Given the description of an element on the screen output the (x, y) to click on. 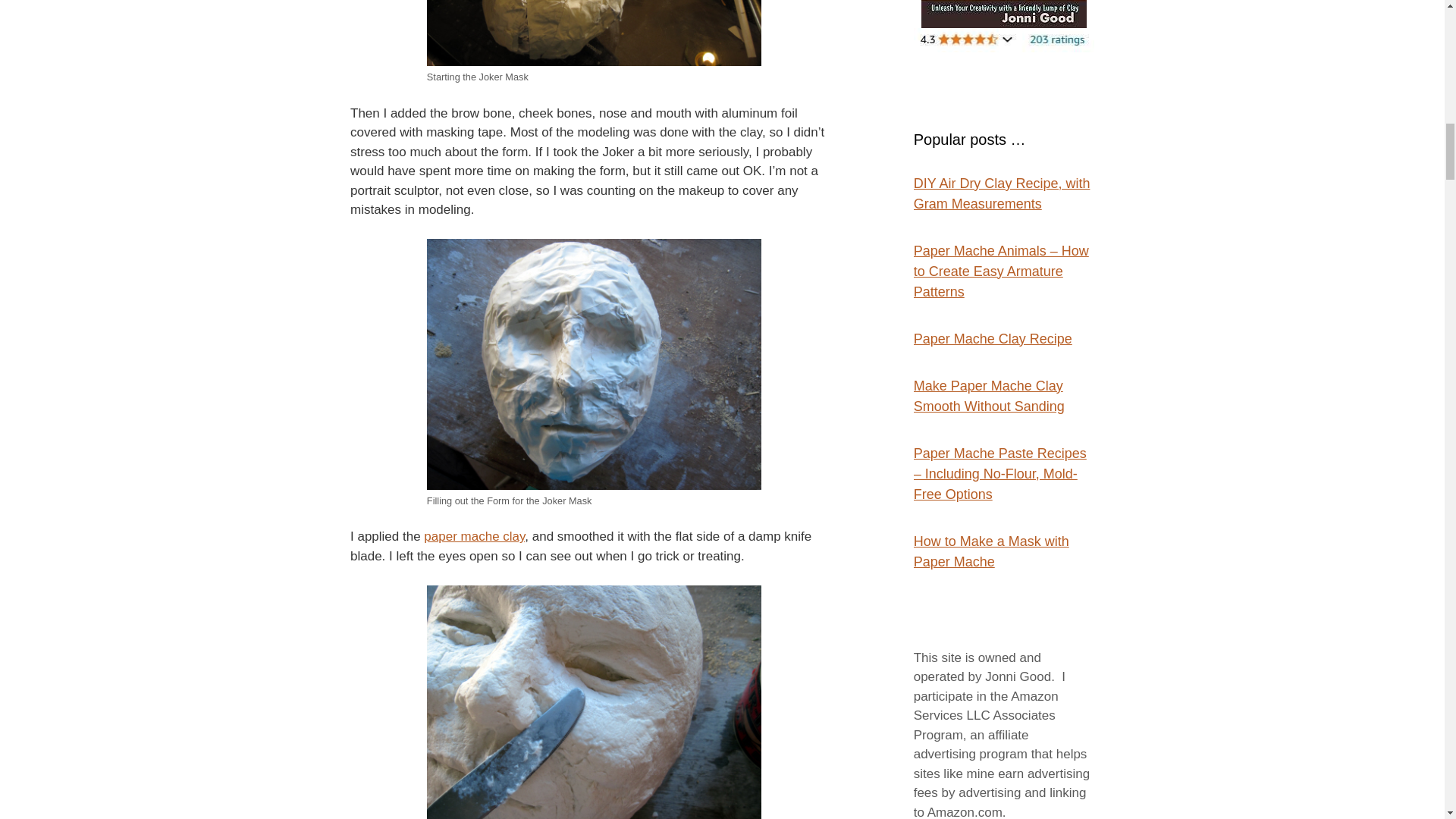
paper mache clay (473, 536)
Filling out the Form for the Joker Mask (593, 364)
Applying Paper Mache Clay to Joker Mask (593, 702)
Starting the Joker Mask (593, 33)
